Given the description of an element on the screen output the (x, y) to click on. 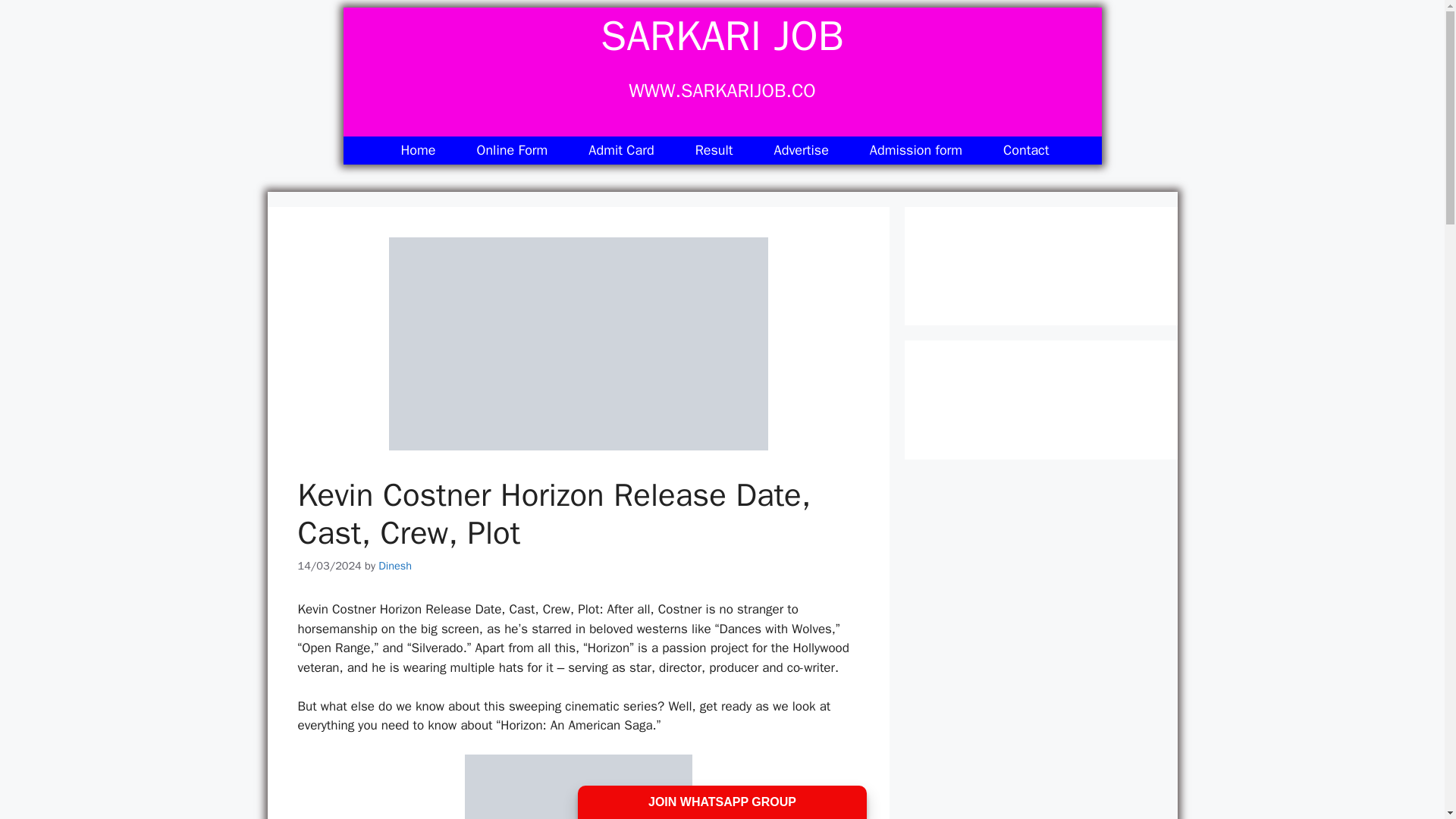
Contact (1025, 150)
Home (417, 150)
Online Form (512, 150)
Admission form (915, 150)
WWW.SARKARIJOB.CO (721, 90)
Admit Card (620, 150)
Result (714, 150)
Advertise (801, 150)
Dinesh (395, 564)
View all posts by Dinesh (395, 564)
SARKARI JOB (721, 35)
